Given the description of an element on the screen output the (x, y) to click on. 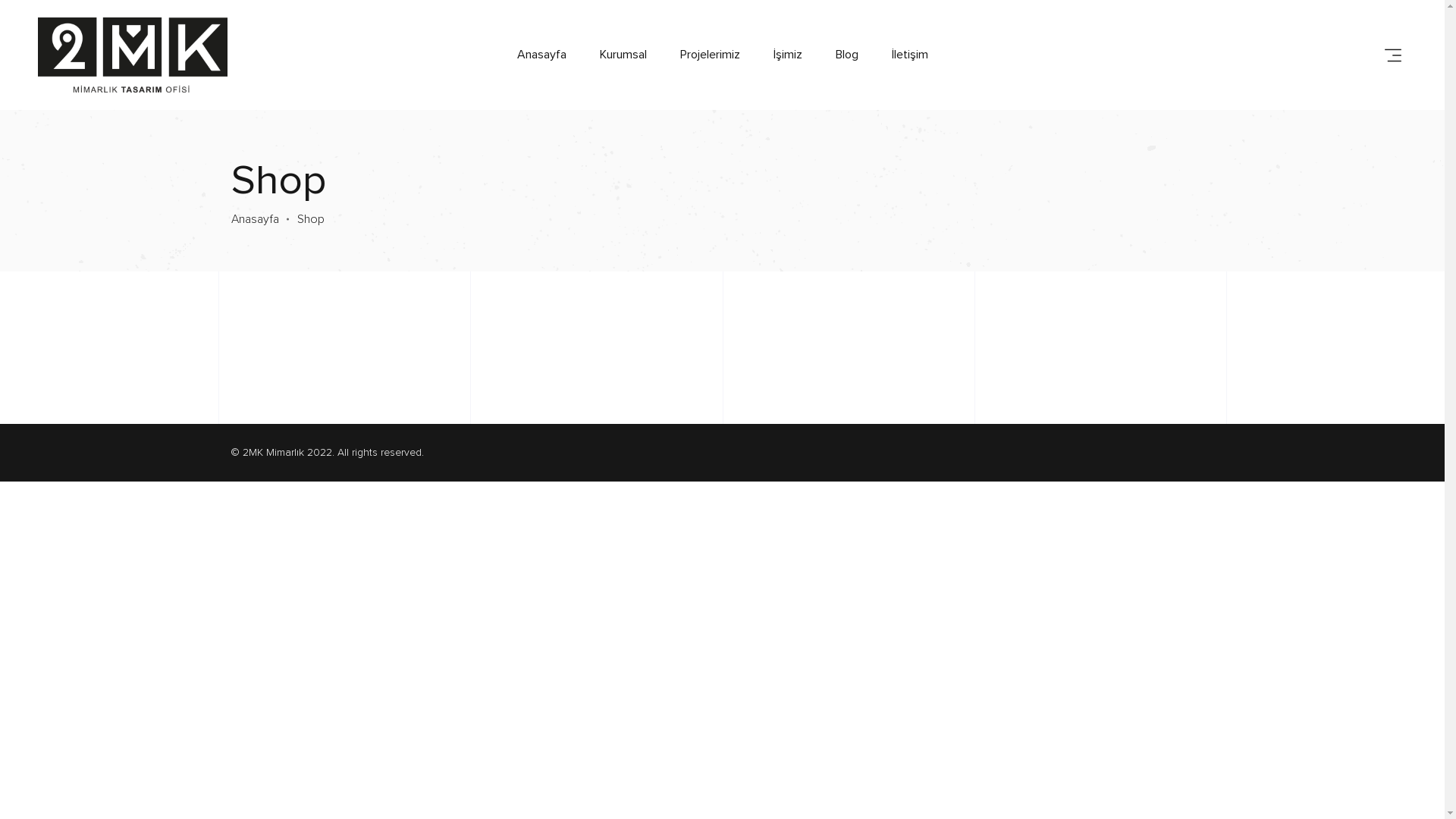
Anasayfa Element type: text (254, 218)
Kurumsal Element type: text (622, 55)
Blog Element type: text (847, 55)
Projelerimiz Element type: text (709, 55)
Anasayfa Element type: text (541, 55)
